Given the description of an element on the screen output the (x, y) to click on. 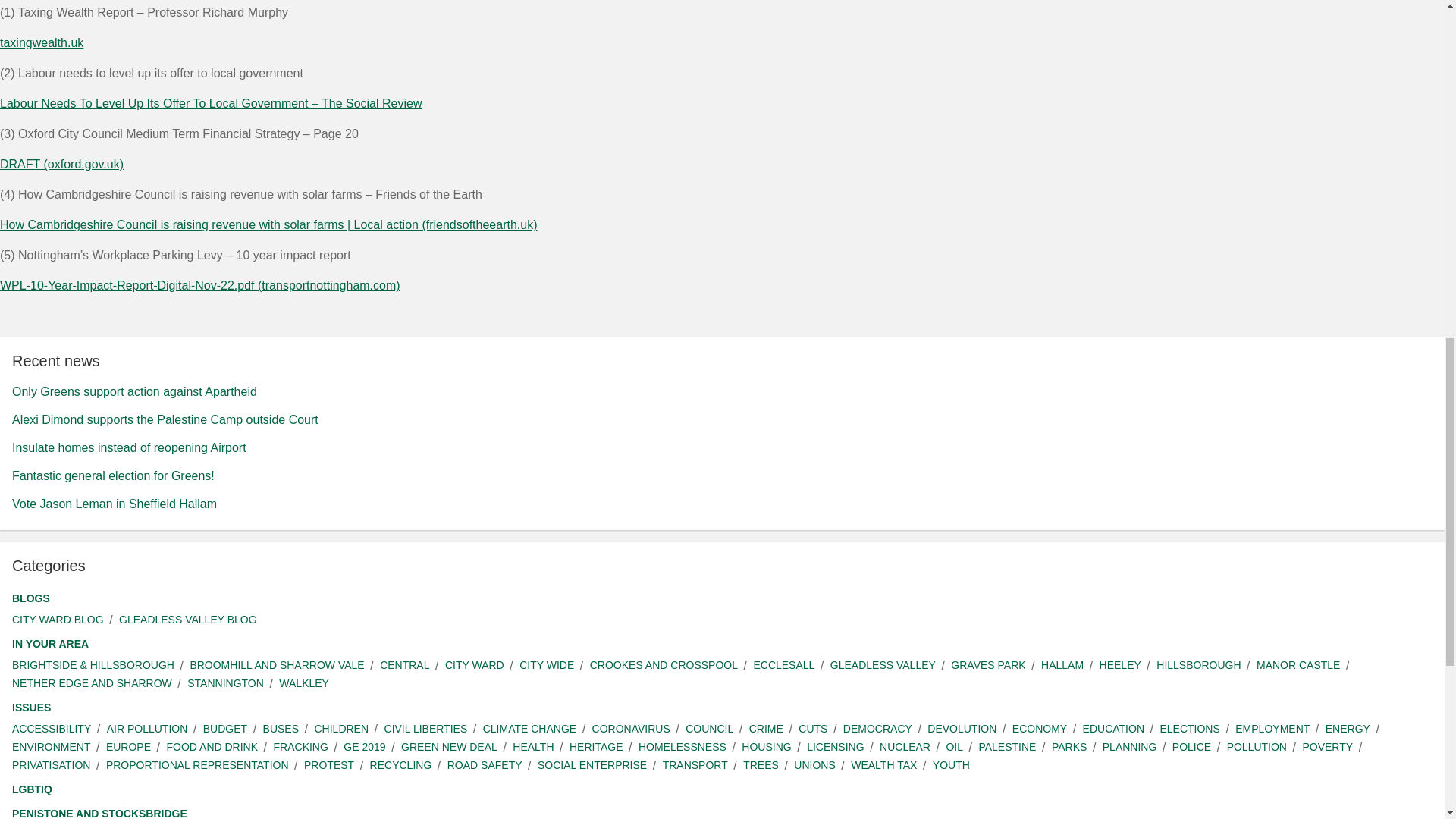
CENTRAL (404, 665)
Fantastic general election for Greens! (112, 475)
CITY WARD (474, 665)
CITY WIDE (546, 665)
IN YOUR AREA (49, 643)
BROOMHILL AND SHARROW VALE (276, 665)
CROOKES AND CROSSPOOL (663, 665)
Alexi Dimond supports the Palestine Camp outside Court (164, 419)
BLOGS (30, 598)
GLEADLESS VALLEY BLOG (188, 619)
Only Greens support action against Apartheid (134, 391)
Vote Jason Leman in Sheffield Hallam (113, 503)
taxingwealth.uk (41, 42)
CITY WARD BLOG (57, 619)
Insulate homes instead of reopening Airport (128, 447)
